Given the description of an element on the screen output the (x, y) to click on. 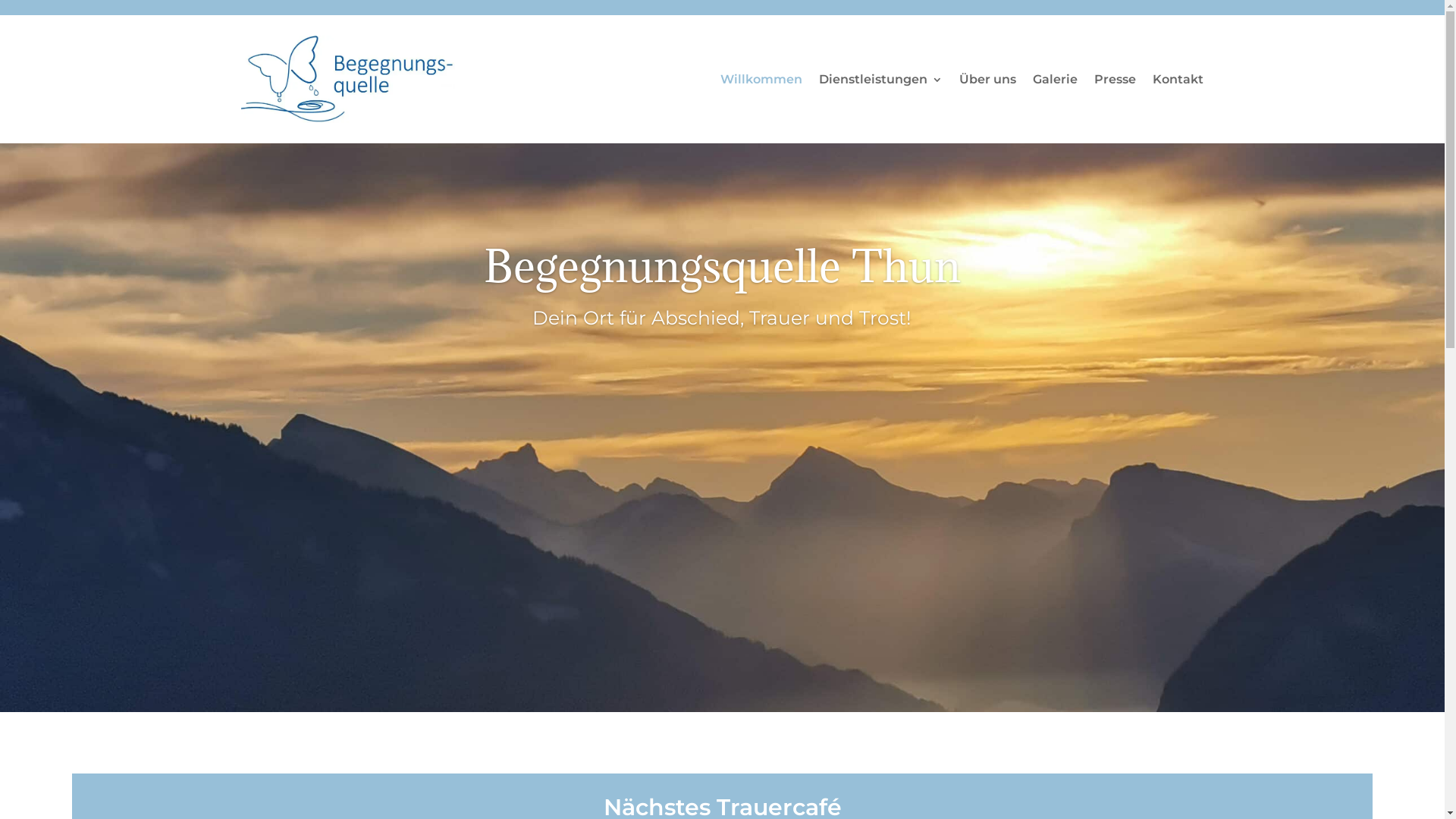
begegnungsquelle-700x400.jpg Element type: hover (348, 78)
Presse Element type: text (1114, 82)
Galerie Element type: text (1054, 82)
Kontakt Element type: text (1177, 82)
Willkommen Element type: text (761, 82)
Dienstleistungen Element type: text (880, 82)
